Given the description of an element on the screen output the (x, y) to click on. 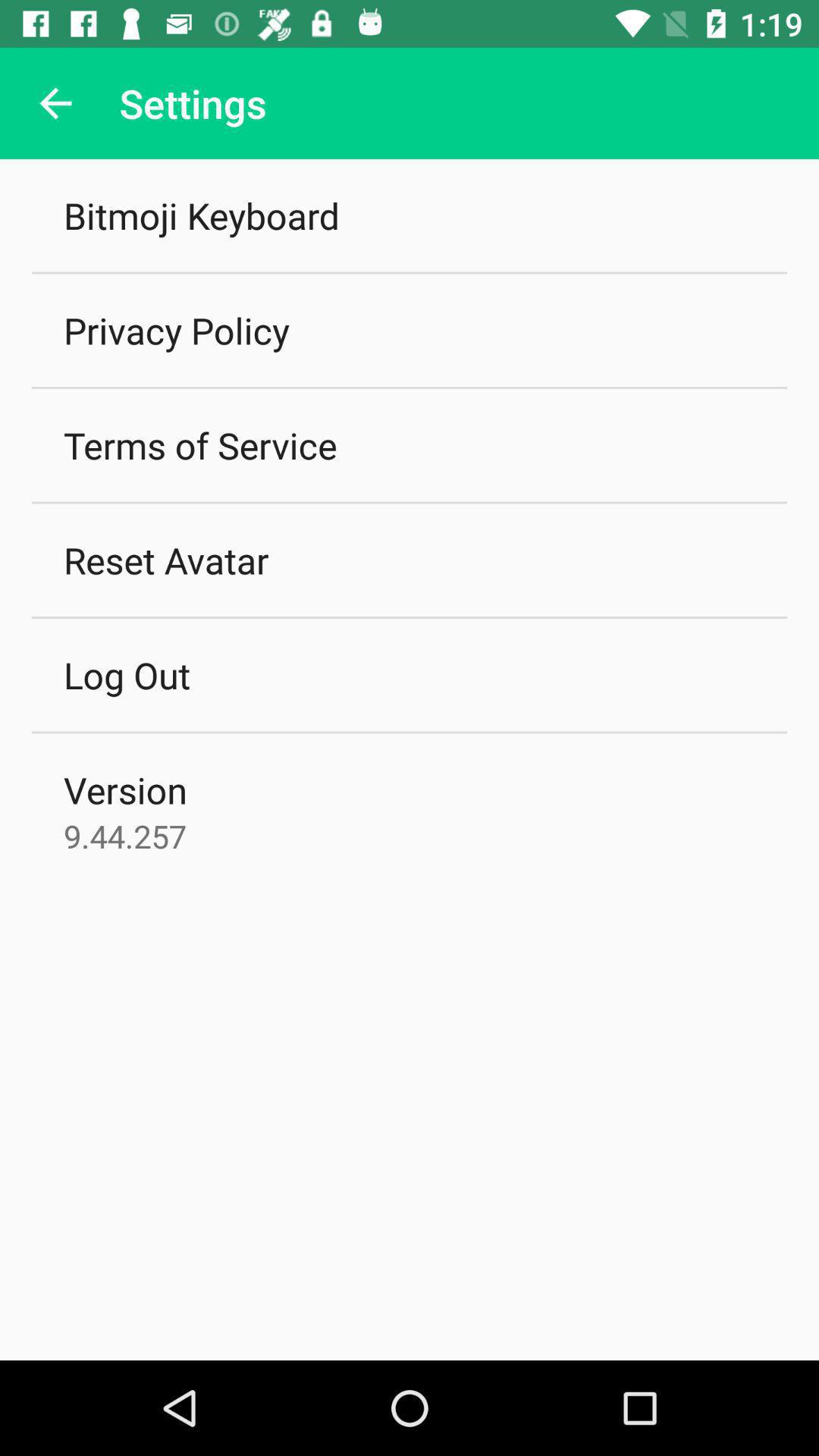
launch the icon above the terms of service icon (176, 329)
